Given the description of an element on the screen output the (x, y) to click on. 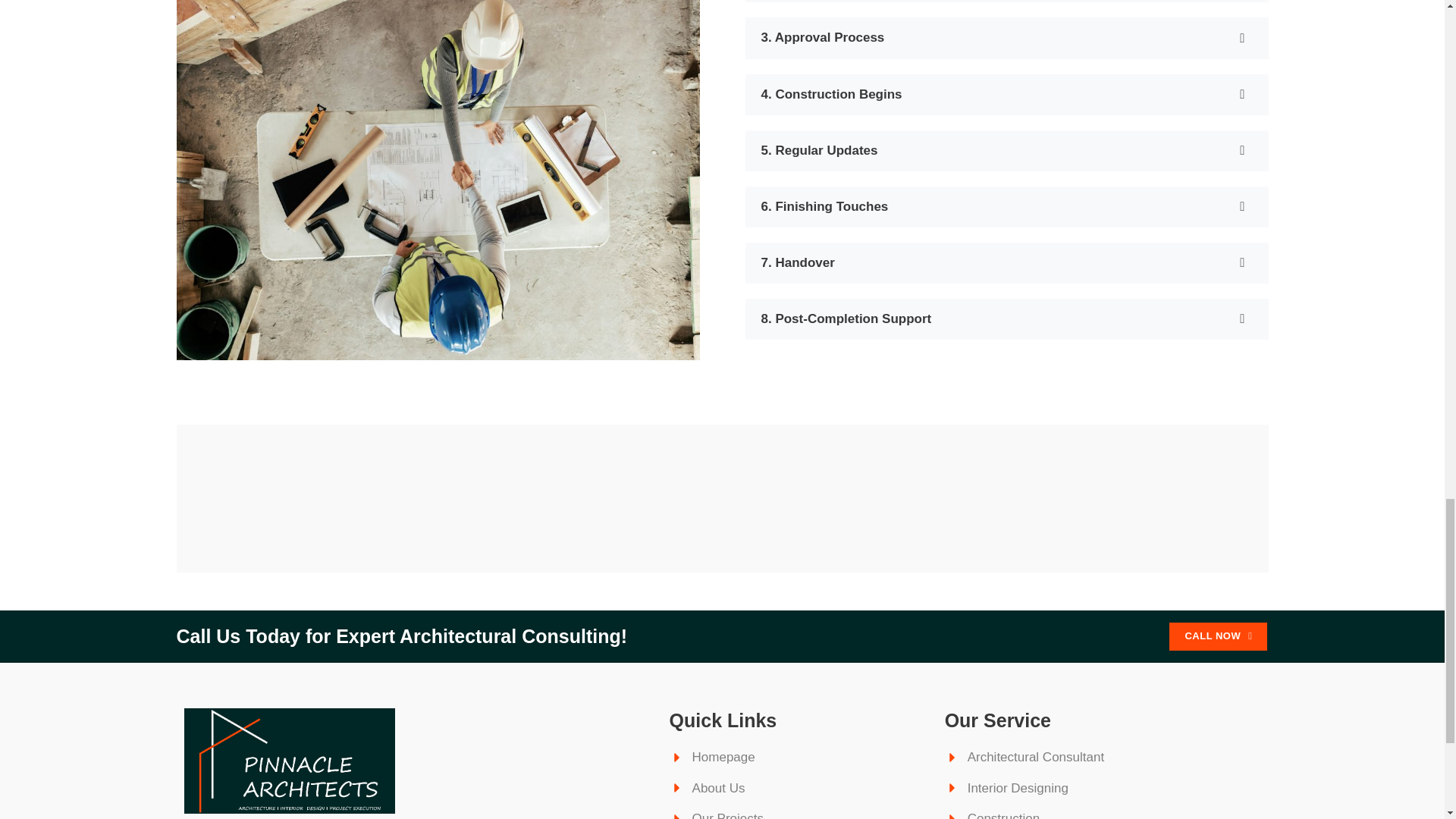
Construction (1076, 814)
8. Post-Completion Support (1006, 318)
6. Finishing Touches (1006, 206)
Our Projects (799, 814)
Interior Designing (1076, 788)
CALL NOW (1218, 636)
7. Handover (1006, 262)
Homepage (799, 757)
Architectural Consultant (1076, 757)
4. Construction Begins (1006, 94)
